Given the description of an element on the screen output the (x, y) to click on. 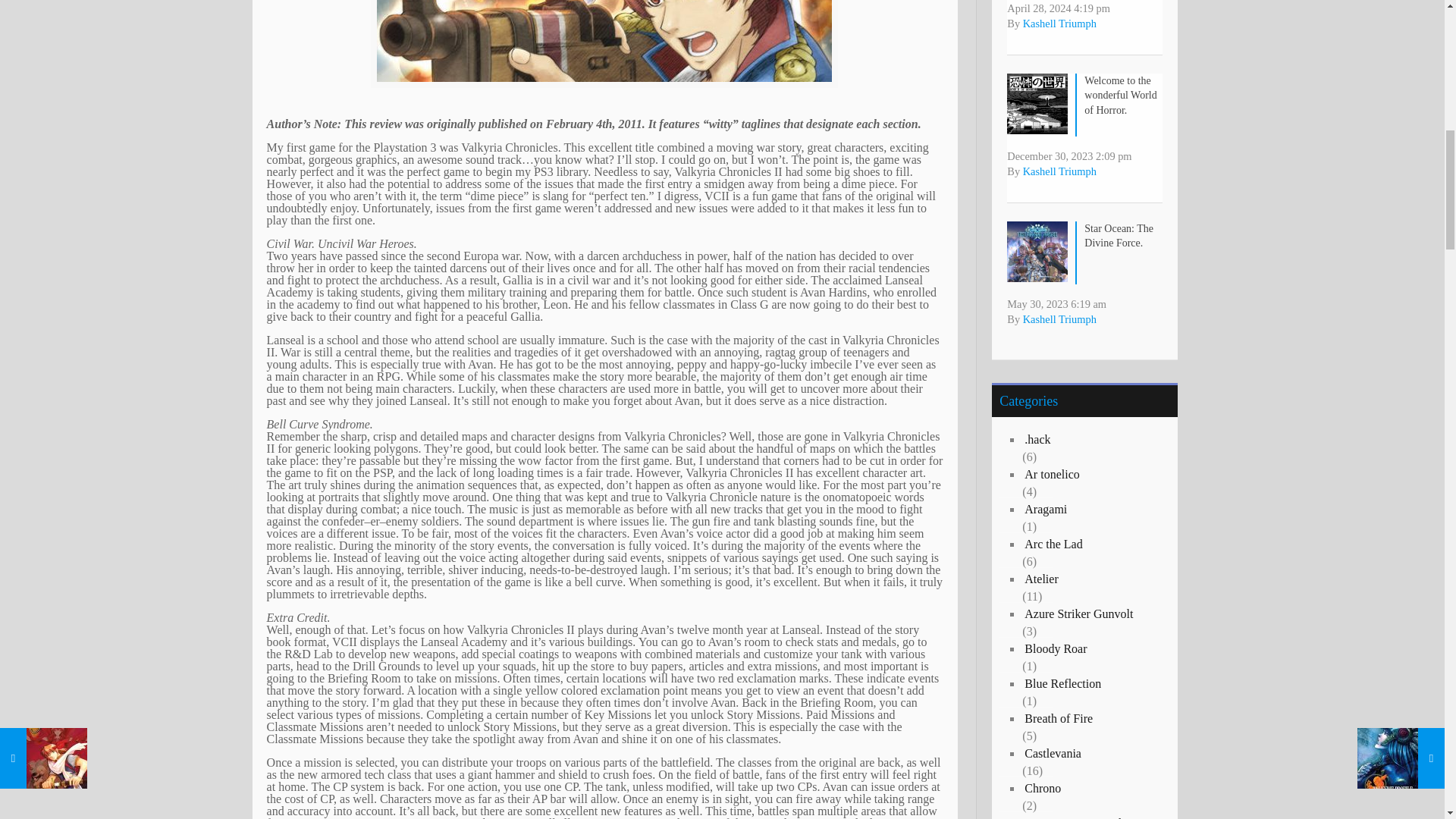
Star Ocean: The Divine Force. (1118, 235)
Kashell Triumph (1059, 318)
.hack (1091, 439)
Kashell Triumph (1059, 171)
Ar tonelico (1091, 474)
Aragami (1091, 508)
Welcome to the wonderful World of Horror. (1120, 95)
Kashell Triumph (1059, 23)
